Given the description of an element on the screen output the (x, y) to click on. 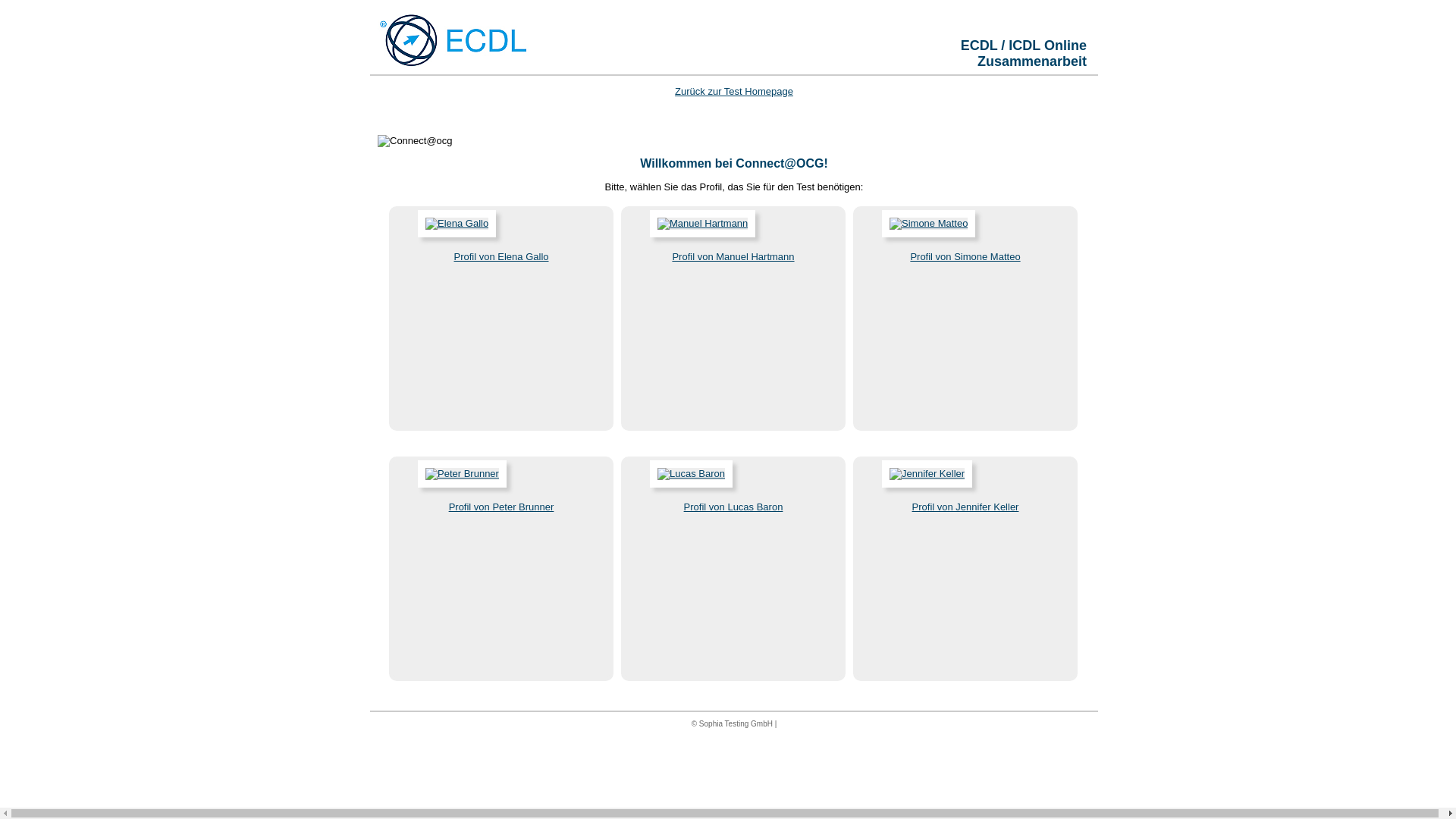
Profil von Lucas Baron Element type: text (733, 506)
Jennifer Keller Element type: hover (926, 473)
Elena Gallo Element type: hover (456, 223)
Profil von Manuel Hartmann Element type: text (732, 256)
Simone Matteo Element type: hover (928, 223)
Profil von Jennifer Keller Element type: text (965, 506)
Lucas Baron Element type: hover (690, 473)
Peter Brunner Element type: hover (461, 473)
Zum Profil von Simone Matteo Element type: hover (915, 233)
Zum Profil von Manuel Hartmann Element type: hover (689, 233)
Manuel Hartmann Element type: hover (702, 223)
Connect@ocg Element type: hover (414, 140)
Zum Profil von Elena Gallo Element type: hover (443, 233)
Profil von Simone Matteo Element type: text (964, 256)
European Computer Driving License Element type: hover (453, 39)
Profil von Peter Brunner Element type: text (501, 506)
Profil von Elena Gallo Element type: text (500, 256)
